Given the description of an element on the screen output the (x, y) to click on. 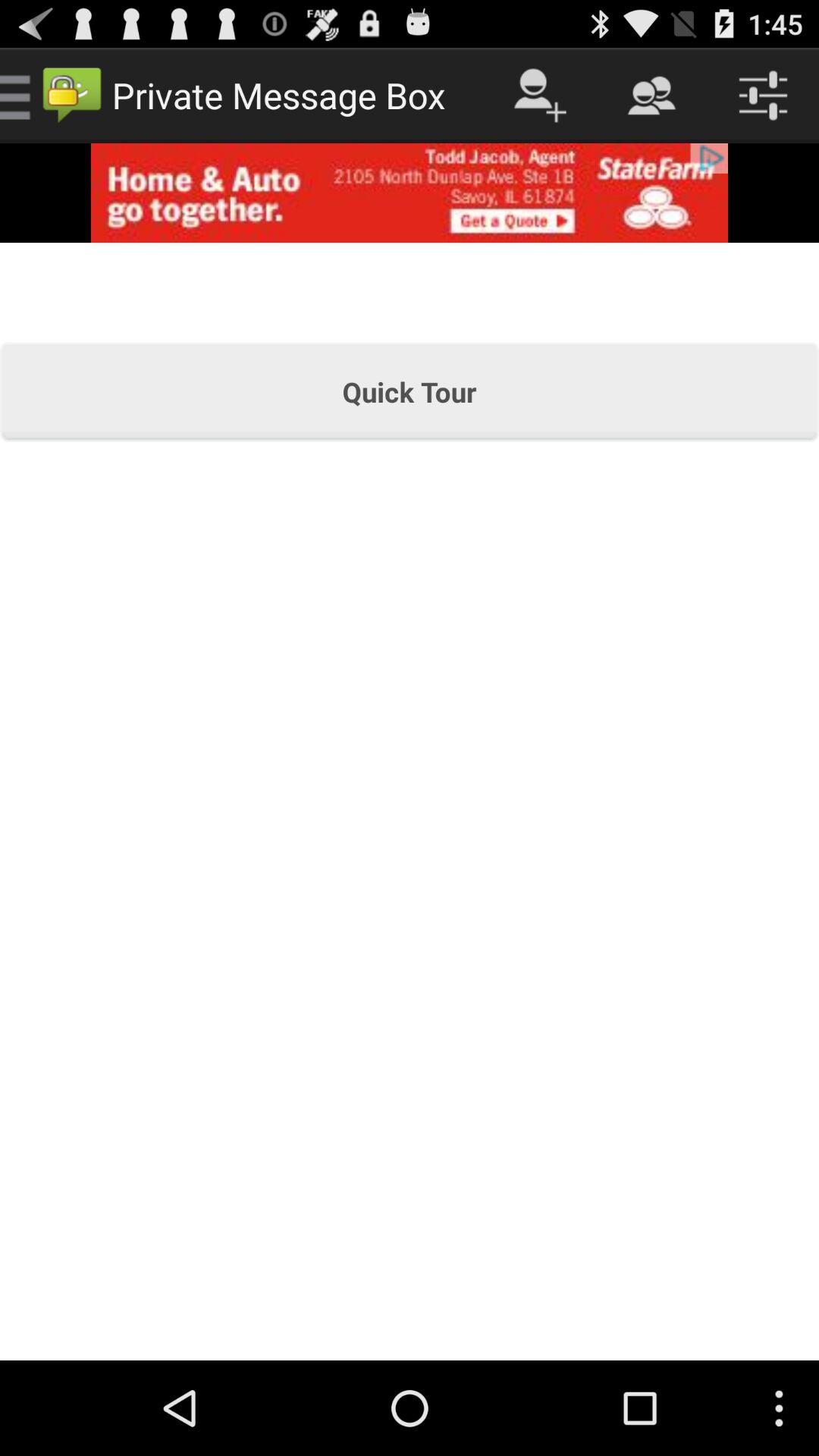
advertising (409, 192)
